Given the description of an element on the screen output the (x, y) to click on. 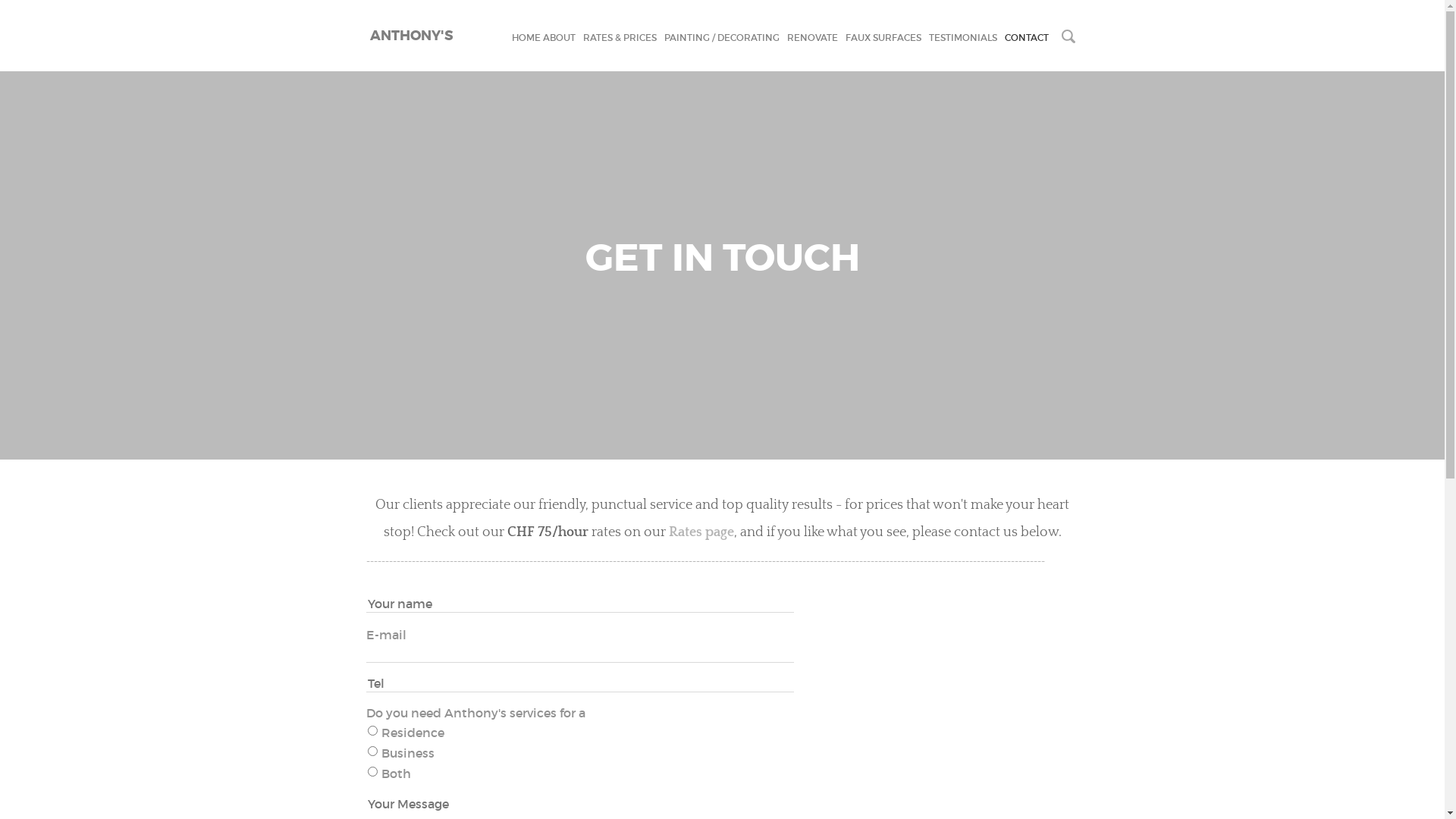
HOME ABOUT Element type: text (542, 37)
PAINTING / DECORATING Element type: text (721, 37)
 ANTHONY'S Element type: text (408, 34)
TESTIMONIALS Element type: text (962, 37)
Rates page Element type: text (701, 531)
CONTACT Element type: text (1026, 37)
RENOVATE Element type: text (812, 37)
FAUX SURFACES Element type: text (882, 37)
RATES & PRICES Element type: text (618, 37)
